Given the description of an element on the screen output the (x, y) to click on. 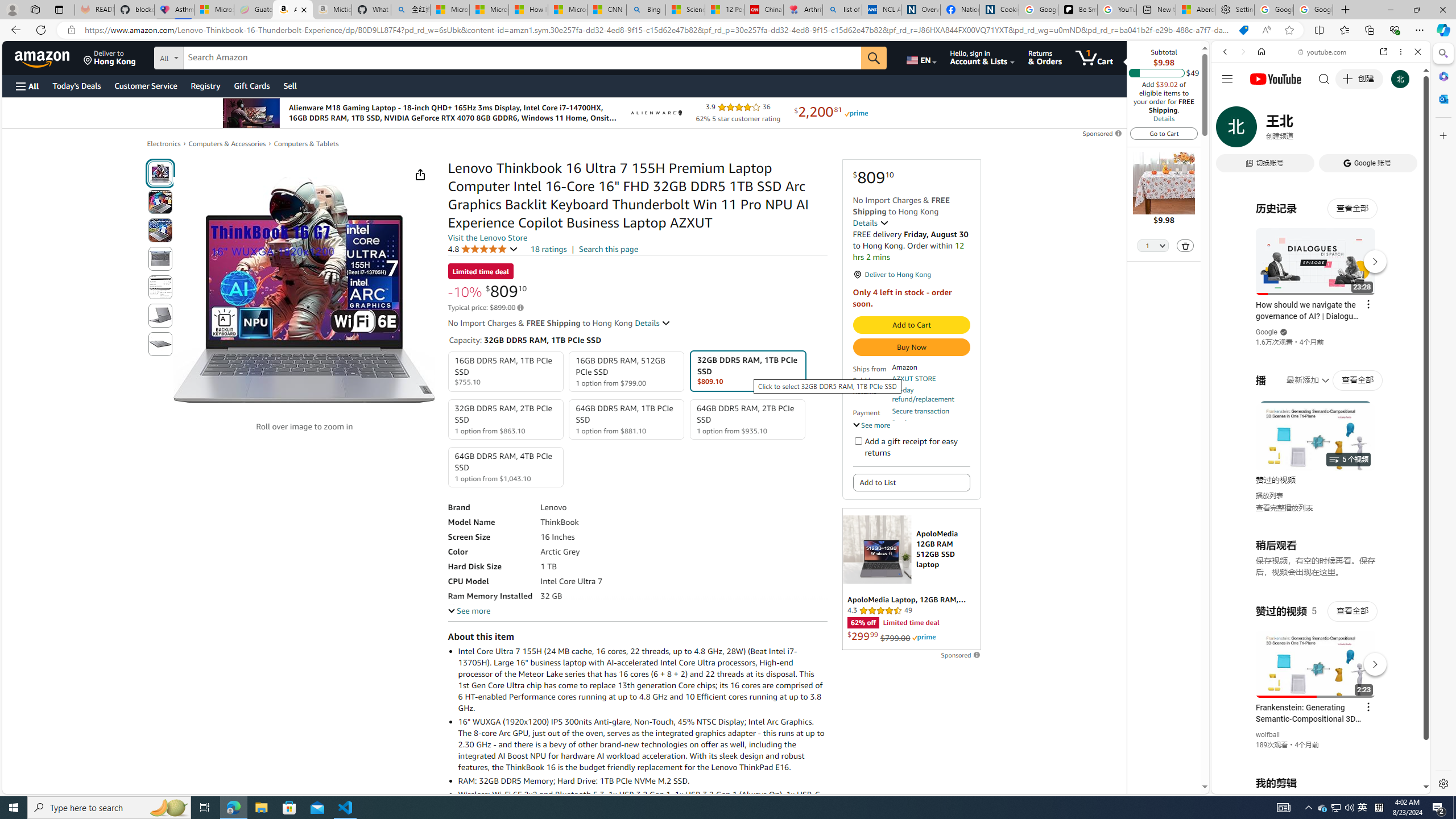
1 item in cart (1094, 57)
Add to List (911, 482)
Bing (646, 9)
Computers & Tablets (306, 144)
Gift Cards (251, 85)
16GB DDR5 RAM, 1TB PCIe SSD $755.10 (505, 371)
Choose a language for shopping. (920, 57)
Customer Service (145, 85)
Skip to main content (48, 56)
